Given the description of an element on the screen output the (x, y) to click on. 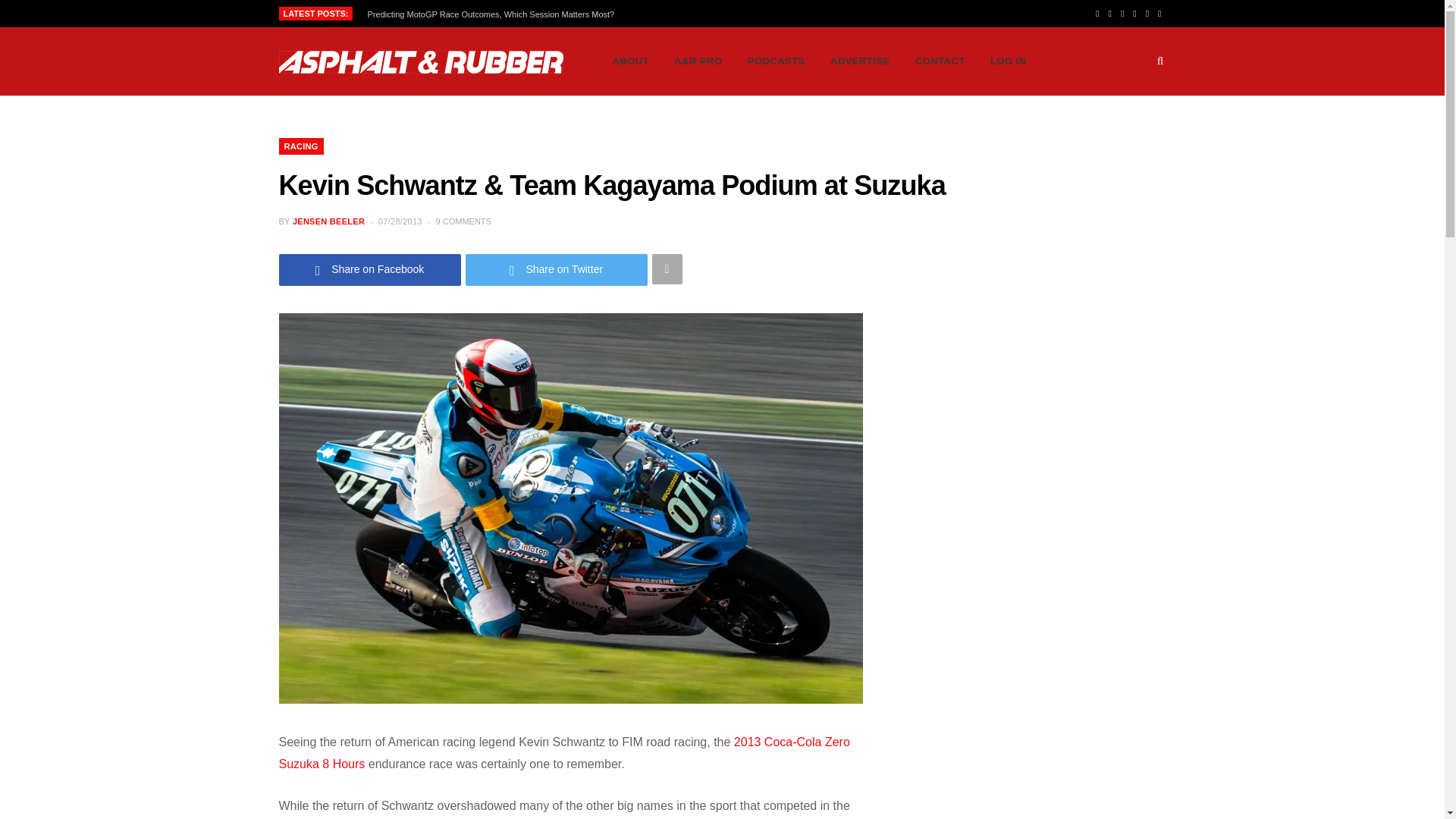
Predicting MotoGP Race Outcomes, Which Session Matters Most? (495, 14)
ADVERTISE (859, 61)
Share on Facebook (370, 269)
Share on Twitter (556, 269)
Share on Twitter (556, 269)
JENSEN BEELER (328, 221)
RACING (301, 146)
Predicting MotoGP Race Outcomes, Which Session Matters Most? (495, 14)
PODCASTS (776, 61)
9 COMMENTS (463, 221)
